Given the description of an element on the screen output the (x, y) to click on. 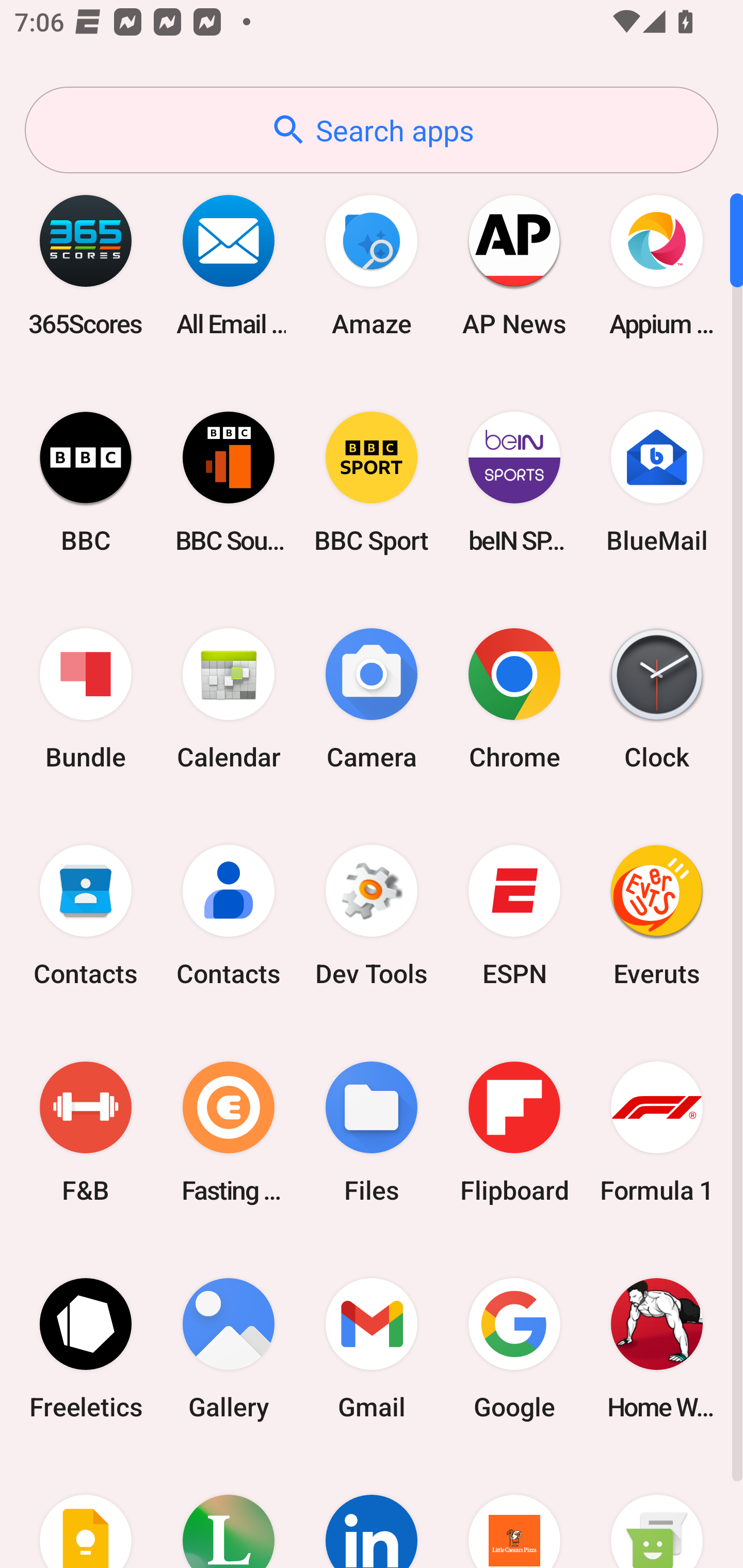
  Search apps (371, 130)
365Scores (85, 264)
All Email Connect (228, 264)
Amaze (371, 264)
AP News (514, 264)
Appium Settings (656, 264)
BBC (85, 482)
BBC Sounds (228, 482)
BBC Sport (371, 482)
beIN SPORTS (514, 482)
BlueMail (656, 482)
Bundle (85, 699)
Calendar (228, 699)
Camera (371, 699)
Chrome (514, 699)
Clock (656, 699)
Contacts (85, 915)
Contacts (228, 915)
Dev Tools (371, 915)
ESPN (514, 915)
Everuts (656, 915)
F&B (85, 1131)
Fasting Coach (228, 1131)
Files (371, 1131)
Flipboard (514, 1131)
Formula 1 (656, 1131)
Freeletics (85, 1348)
Gallery (228, 1348)
Gmail (371, 1348)
Google (514, 1348)
Home Workout (656, 1348)
